Given the description of an element on the screen output the (x, y) to click on. 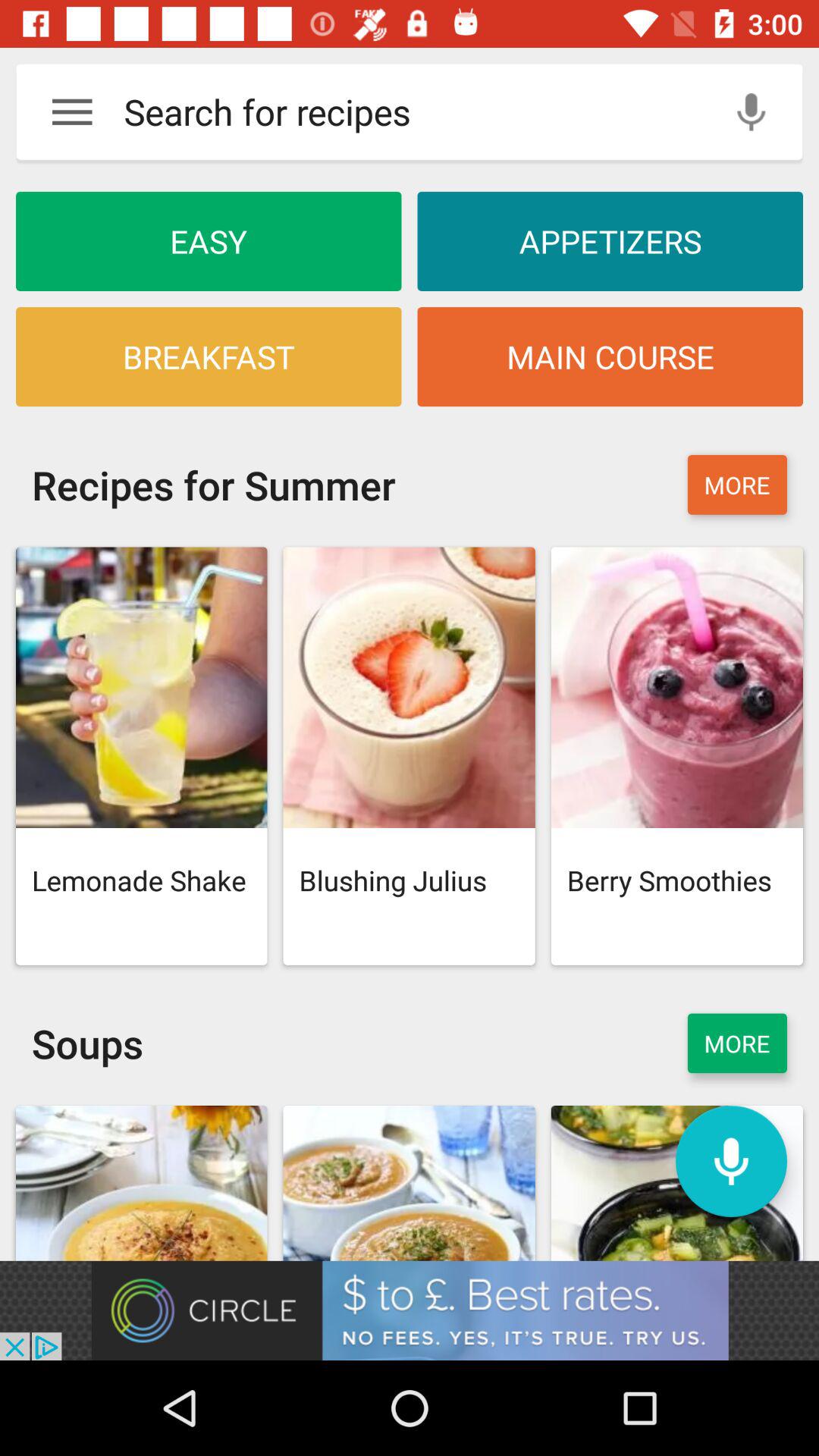
on the recorder (731, 1161)
